Given the description of an element on the screen output the (x, y) to click on. 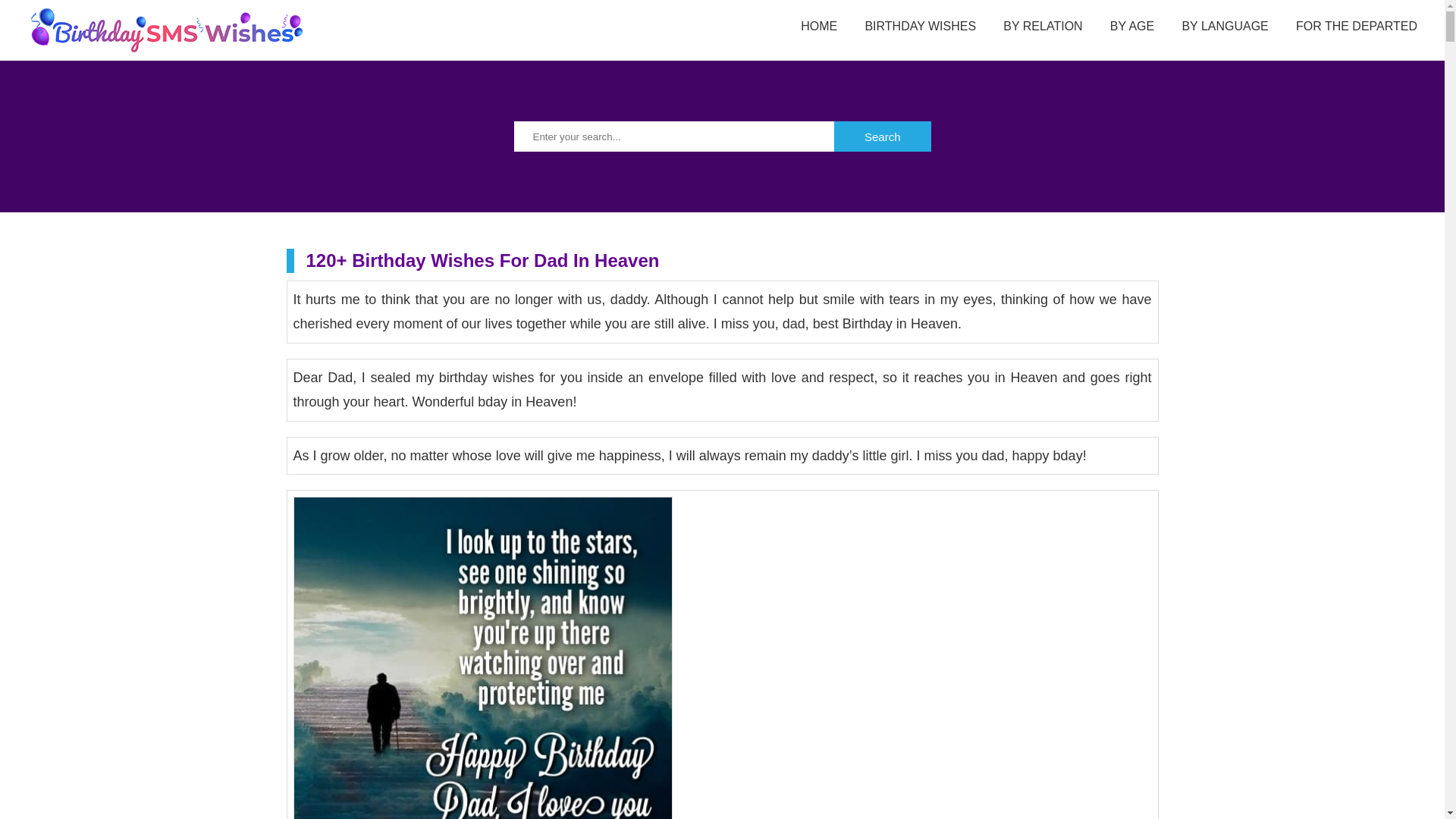
BIRTHDAY WISHES (919, 27)
HOME (818, 27)
Search (882, 136)
BY AGE (1131, 27)
FOR THE DEPARTED (1355, 27)
BY RELATION (1042, 27)
BY LANGUAGE (1224, 27)
